Given the description of an element on the screen output the (x, y) to click on. 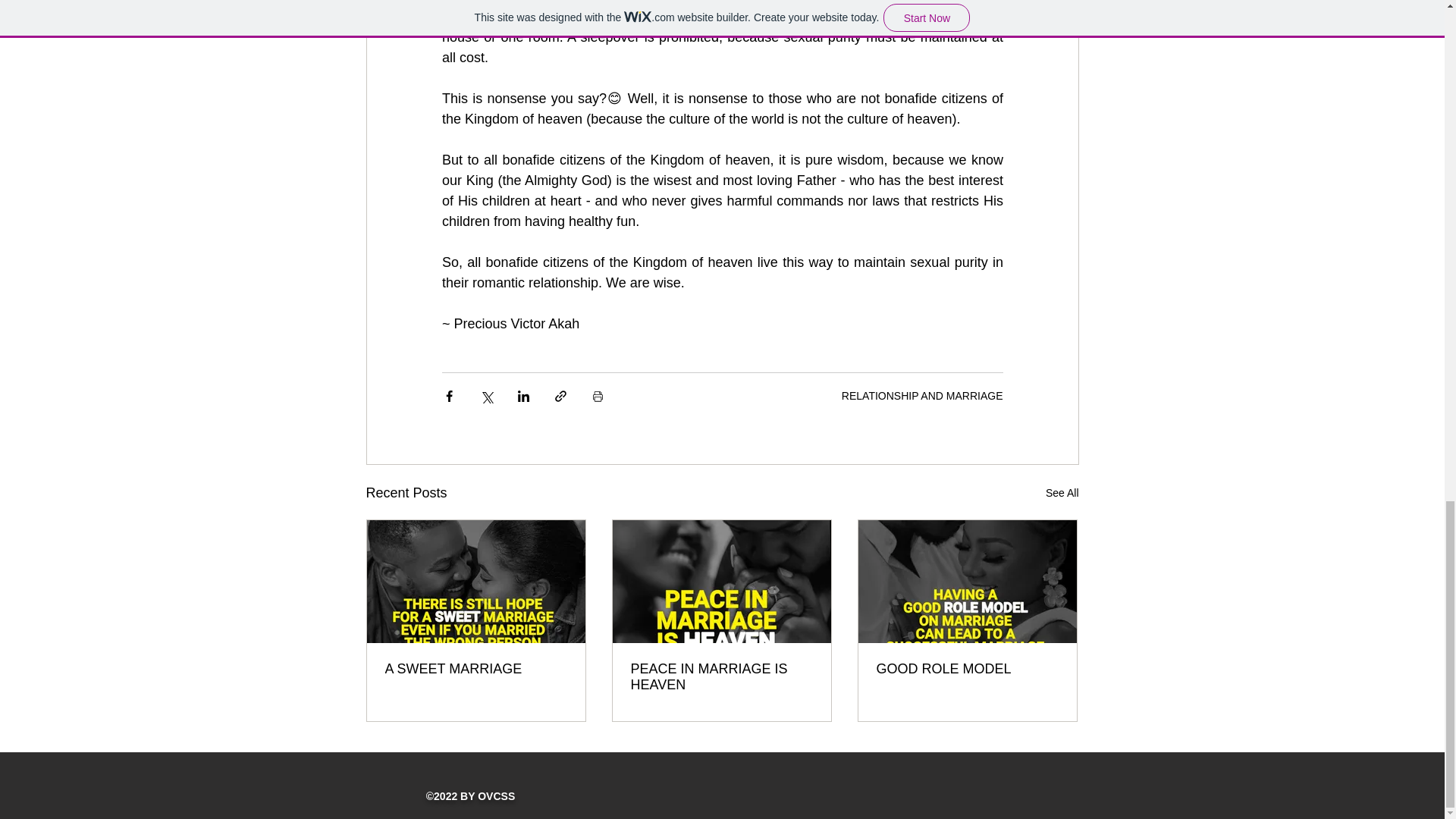
PEACE IN MARRIAGE IS HEAVEN (721, 676)
RELATIONSHIP AND MARRIAGE (922, 395)
A SWEET MARRIAGE (476, 668)
GOOD ROLE MODEL (967, 668)
See All (1061, 493)
